Given the description of an element on the screen output the (x, y) to click on. 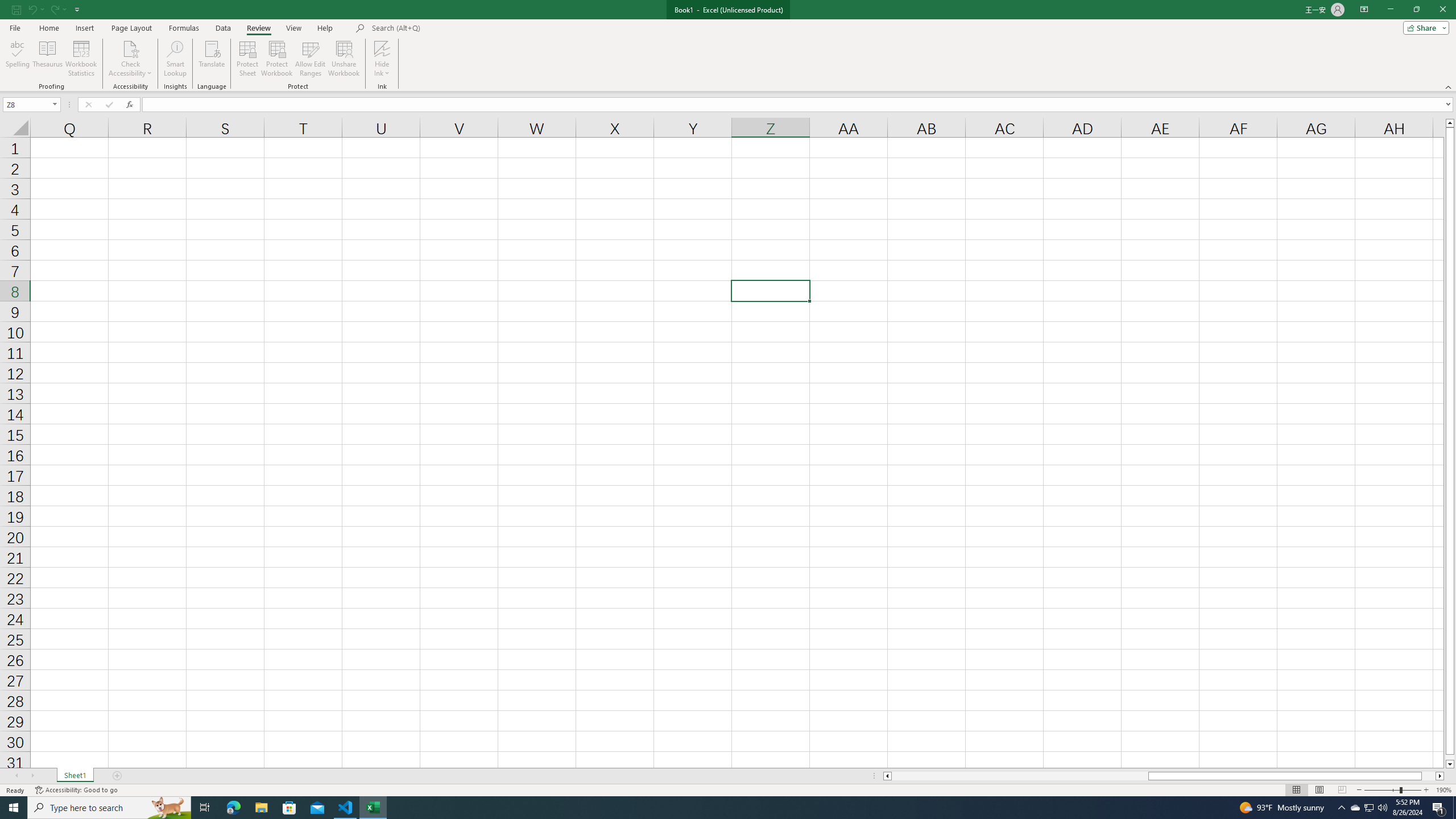
Formula Bar (798, 104)
Hide Ink (381, 58)
